Given the description of an element on the screen output the (x, y) to click on. 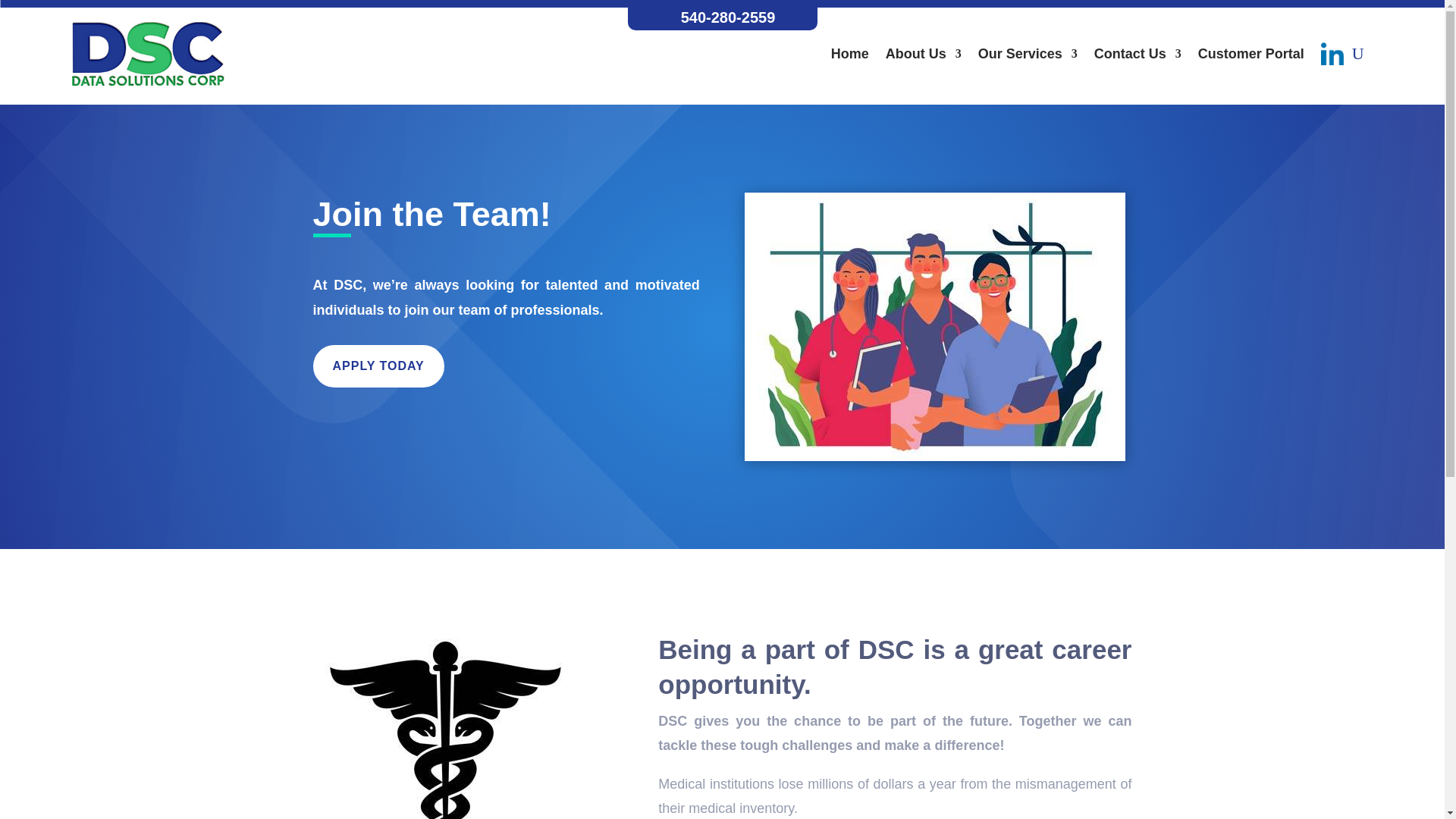
Contact Us (1137, 53)
Our Services (1027, 53)
About Us (922, 53)
Careers - Join the Team (934, 326)
Medical Icon (445, 725)
Customer Portal (1251, 53)
